Given the description of an element on the screen output the (x, y) to click on. 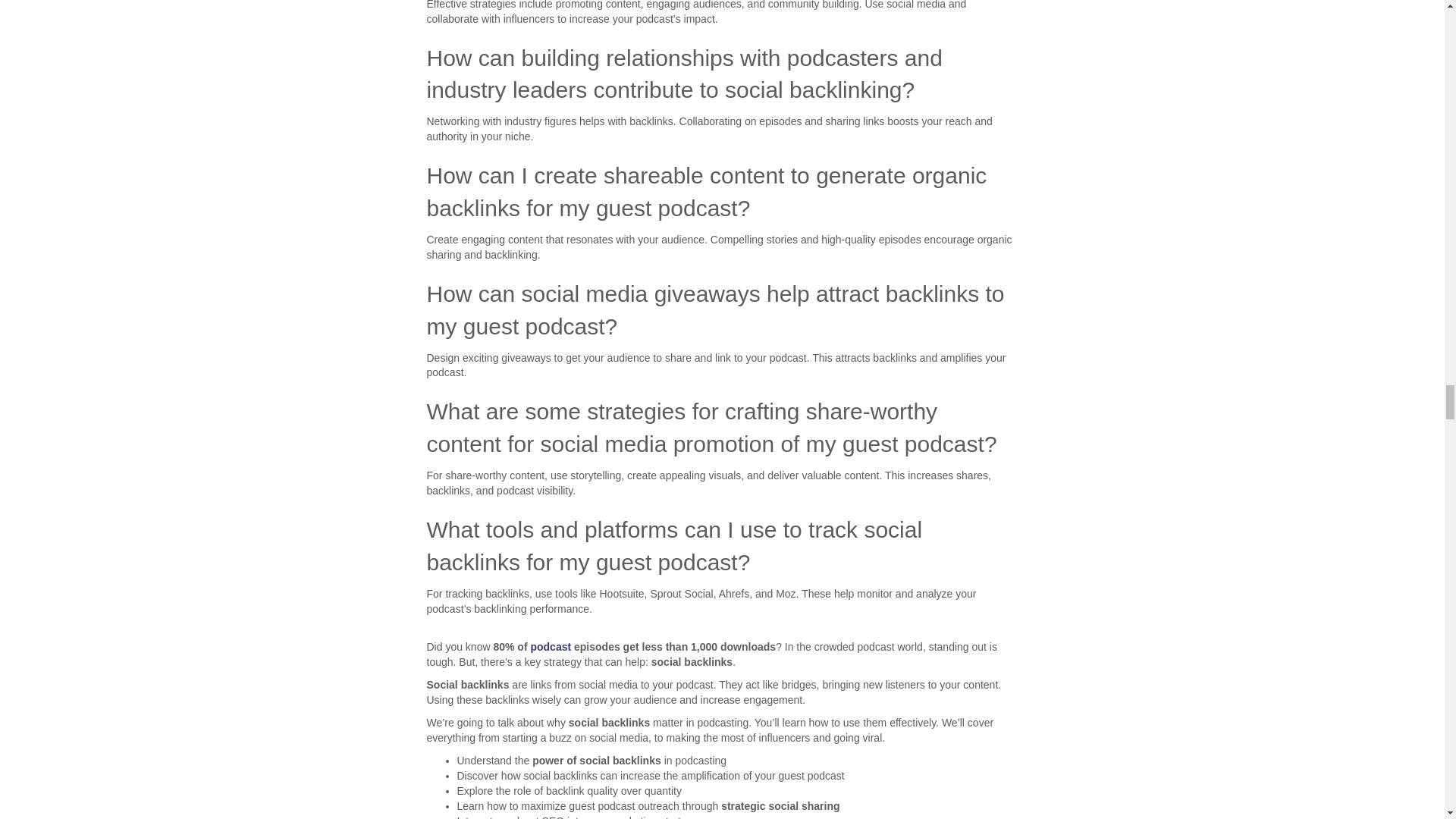
podcast (549, 646)
